Given the description of an element on the screen output the (x, y) to click on. 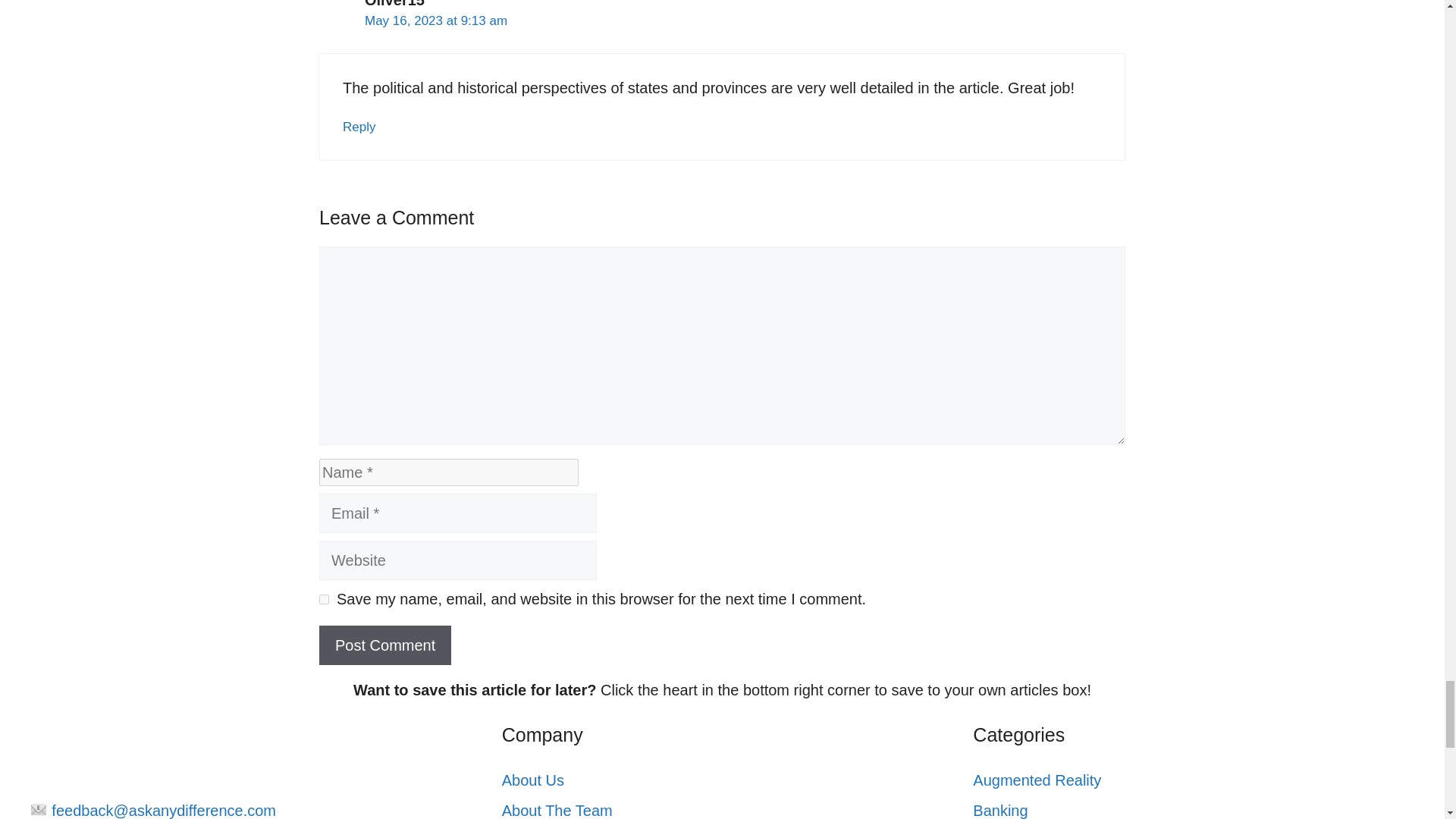
Post Comment (384, 645)
yes (323, 599)
